Given the description of an element on the screen output the (x, y) to click on. 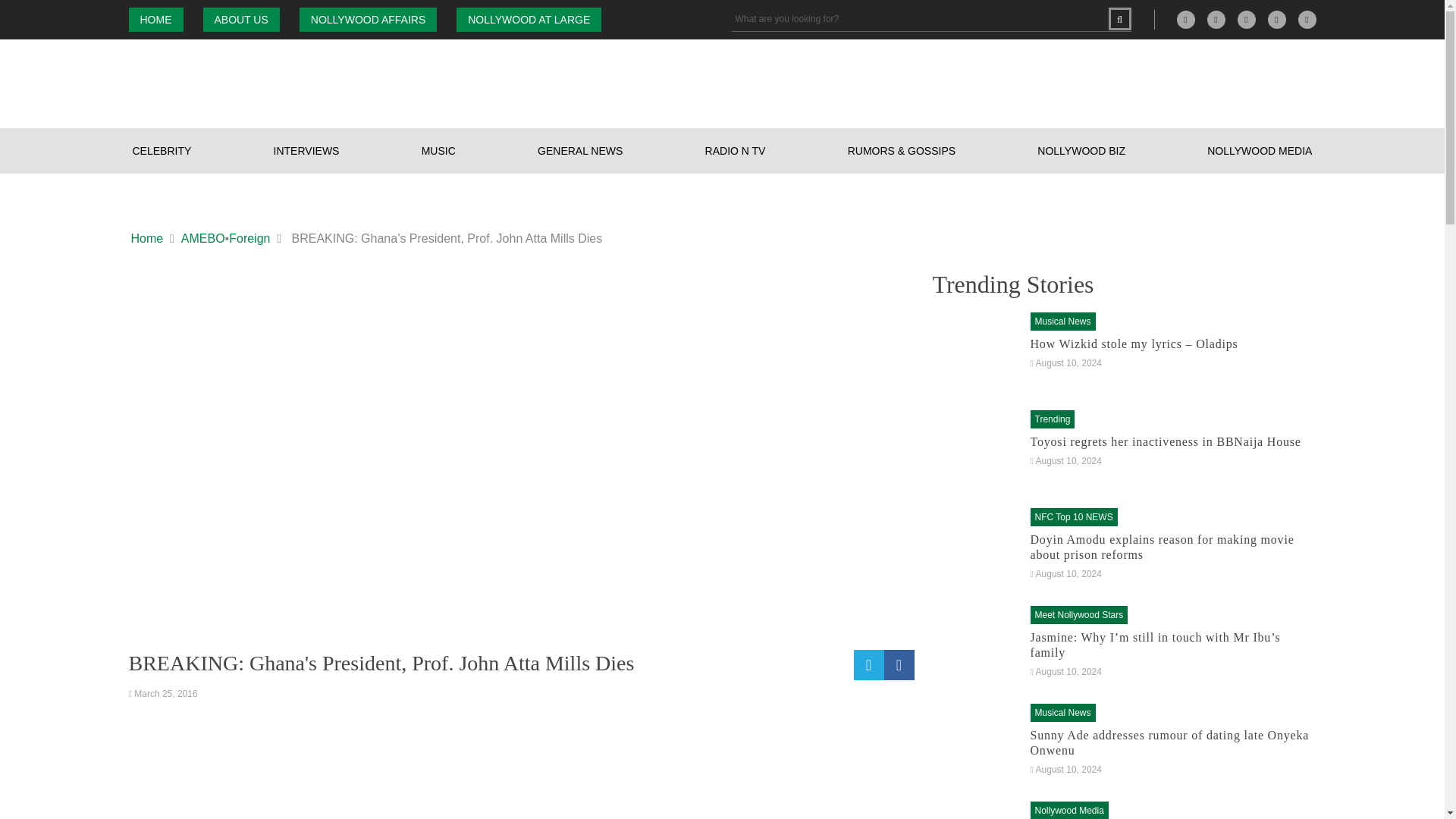
HOME (156, 19)
Youtube (1307, 19)
INTERVIEWS (306, 150)
GENERAL NEWS (580, 150)
NOLLYWOOD AT LARGE (529, 19)
AMEBO (202, 239)
NOLLYWOOD AFFAIRS (367, 19)
NOLLYWOOD MEDIA (1260, 150)
Google plus (1185, 19)
MUSIC (438, 150)
